Given the description of an element on the screen output the (x, y) to click on. 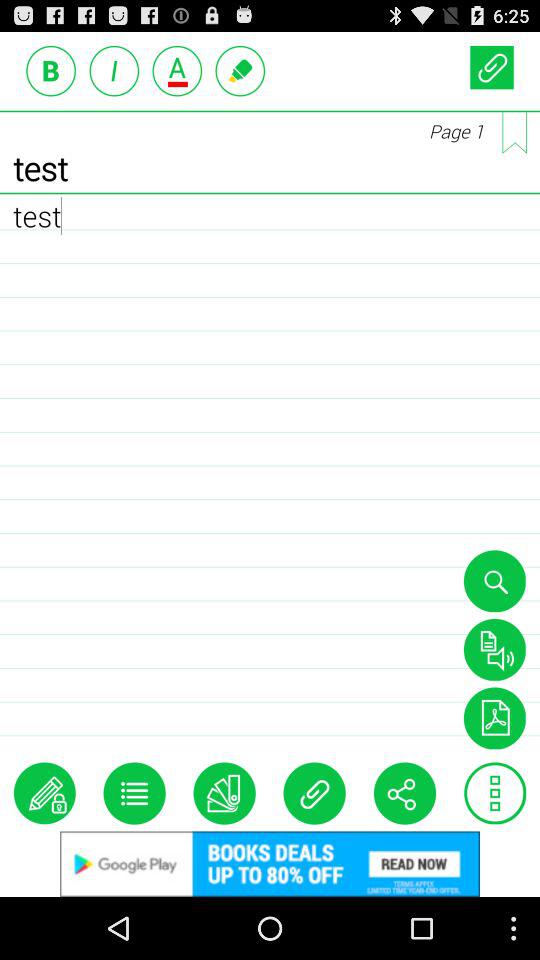
go to customize (134, 793)
